Given the description of an element on the screen output the (x, y) to click on. 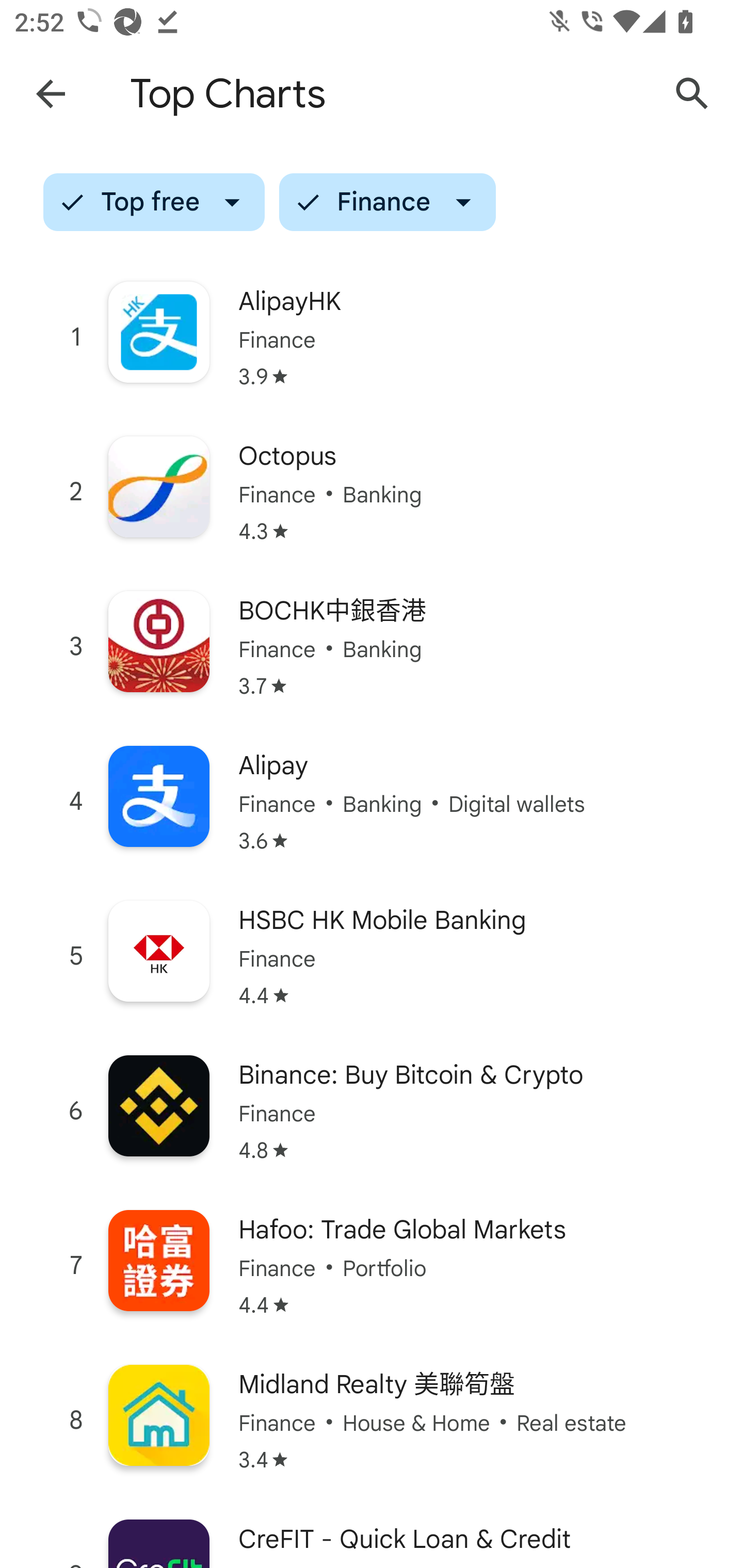
Navigate up (50, 93)
Search Google Play (692, 93)
1 AlipayHK
Finance
Star rating: 3.9
 (371, 336)
2 Octopus
Finance
Banking
Star rating: 4.3
 (371, 491)
3 BOCHK中銀香港
Finance
Banking
Star rating: 3.7
 (371, 646)
5 HSBC HK Mobile Banking
Finance
Star rating: 4.4
 (371, 956)
